Given the description of an element on the screen output the (x, y) to click on. 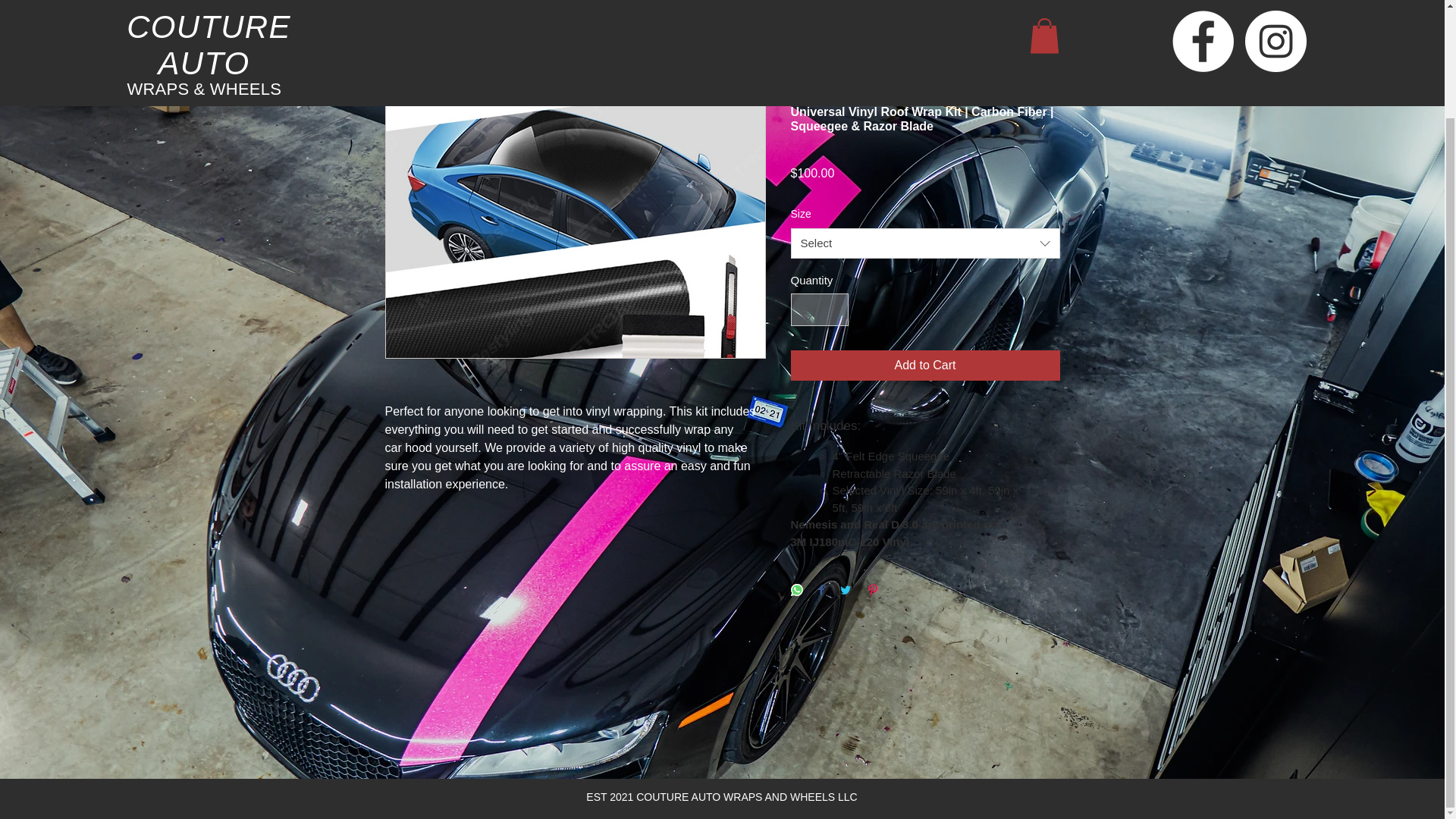
Add to Cart (924, 365)
Select (924, 243)
Kit Includes: (924, 425)
1 (818, 309)
